Given the description of an element on the screen output the (x, y) to click on. 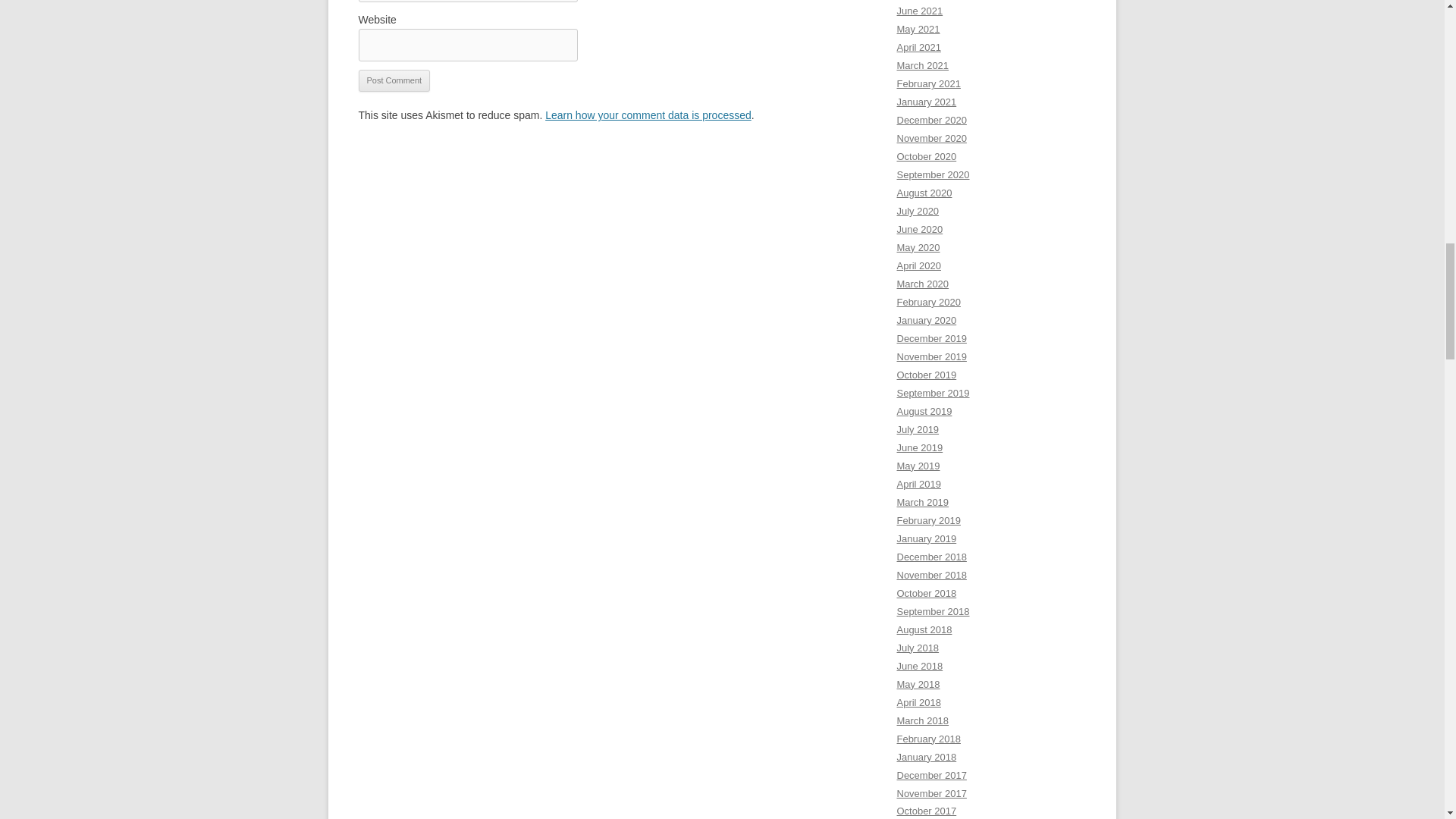
Post Comment (393, 80)
Post Comment (393, 80)
Learn how your comment data is processed (647, 114)
